Given the description of an element on the screen output the (x, y) to click on. 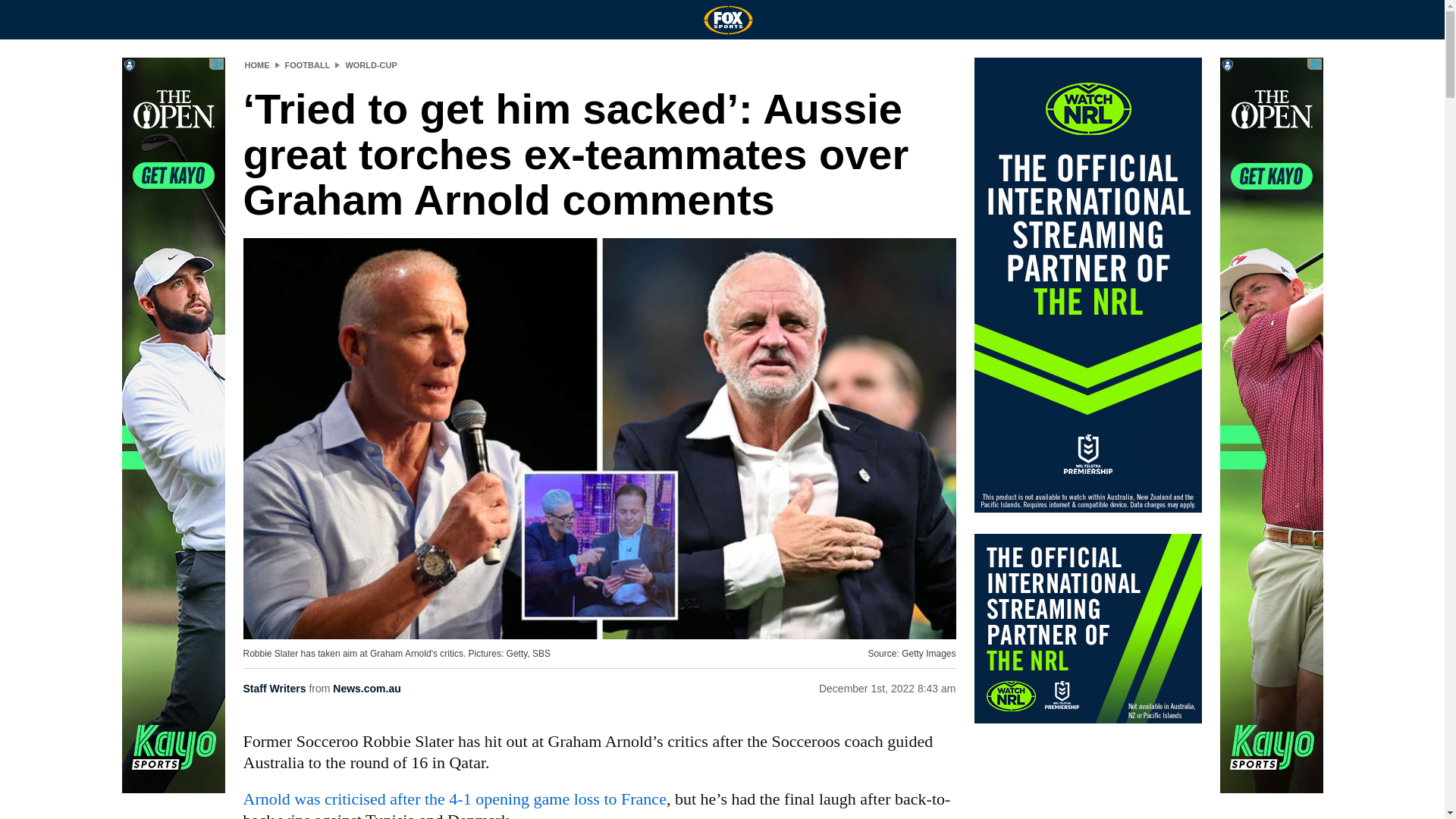
FOOTBALL (307, 64)
3rd party ad content (172, 425)
WORLD-CUP (370, 64)
HOME (256, 64)
3rd party ad content (1271, 425)
3rd party ad content (1087, 628)
3rd party ad content (1087, 284)
